Given the description of an element on the screen output the (x, y) to click on. 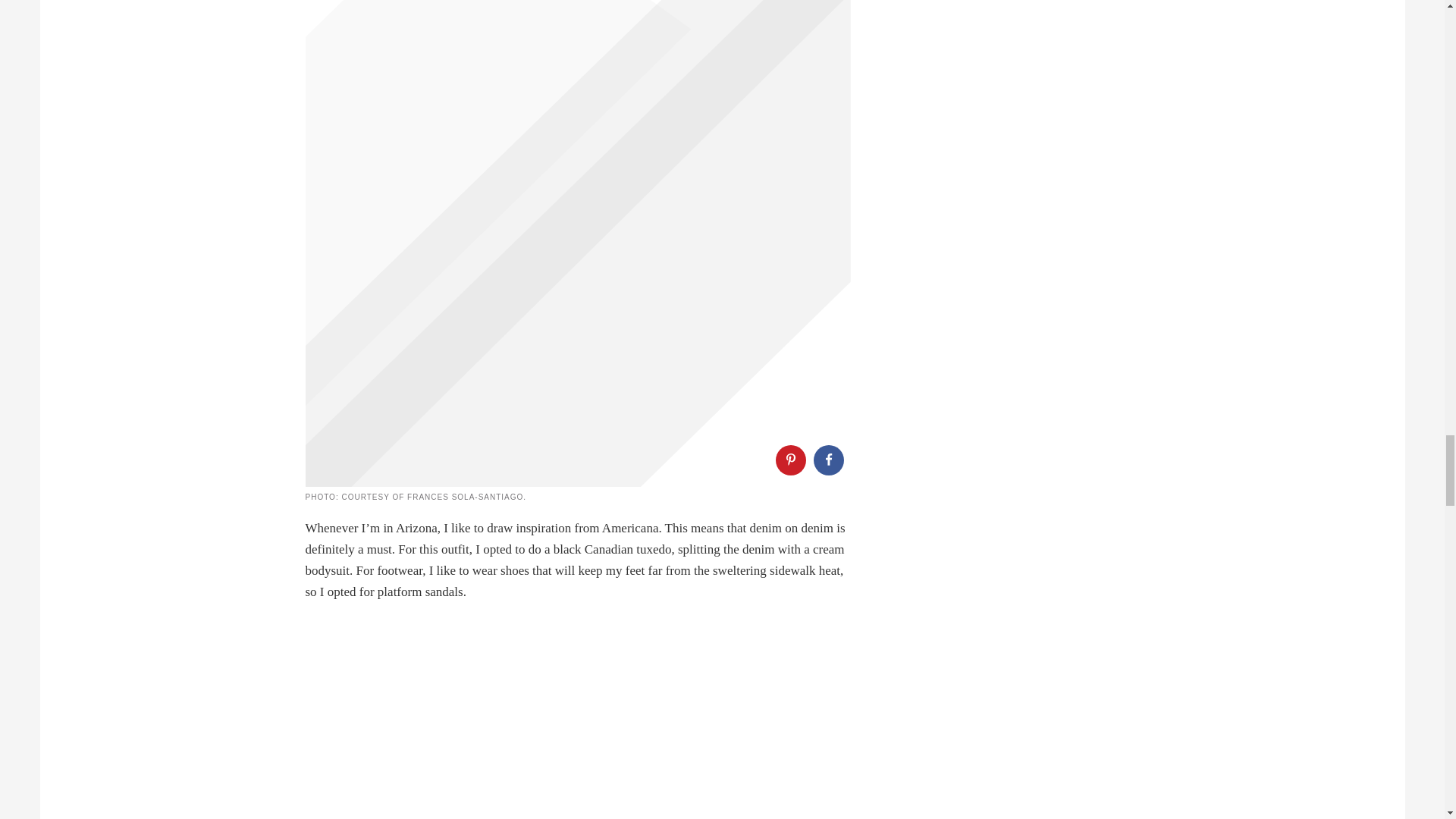
Share on Pinterest (789, 460)
